Given the description of an element on the screen output the (x, y) to click on. 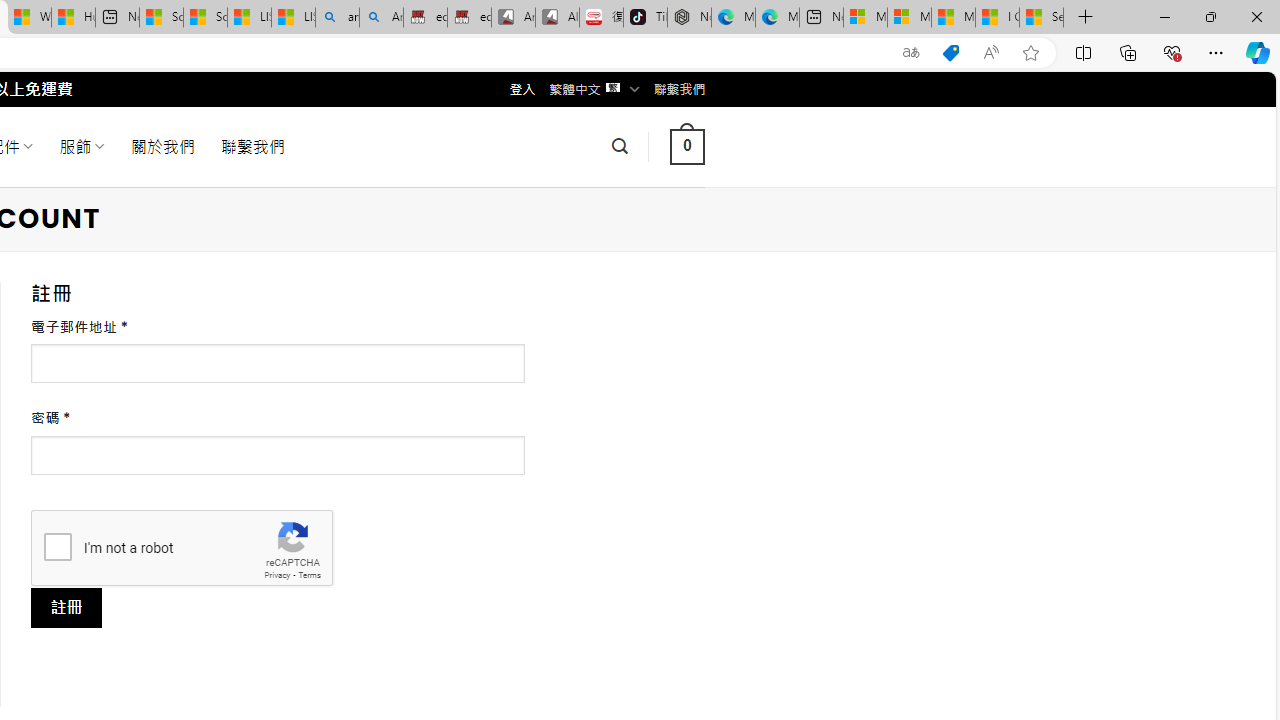
Show translate options (910, 53)
Amazon Echo Dot PNG - Search Images (381, 17)
Nordace - Best Sellers (689, 17)
All Cubot phones (557, 17)
  0   (687, 146)
 0  (687, 146)
